Given the description of an element on the screen output the (x, y) to click on. 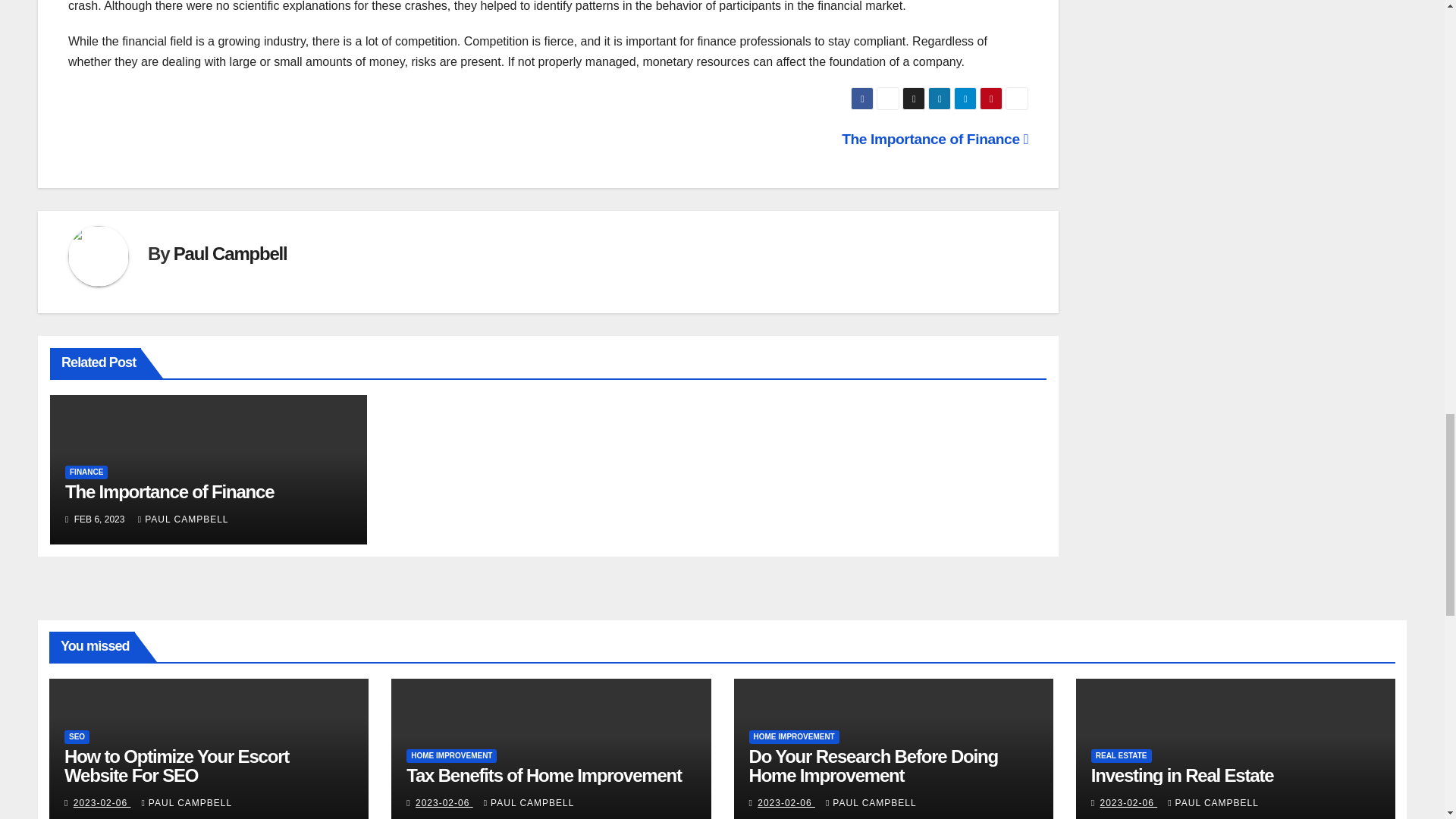
The Importance of Finance (934, 139)
PAUL CAMPBELL (183, 519)
Paul Campbell (229, 253)
FINANCE (86, 472)
The Importance of Finance (169, 491)
